Given the description of an element on the screen output the (x, y) to click on. 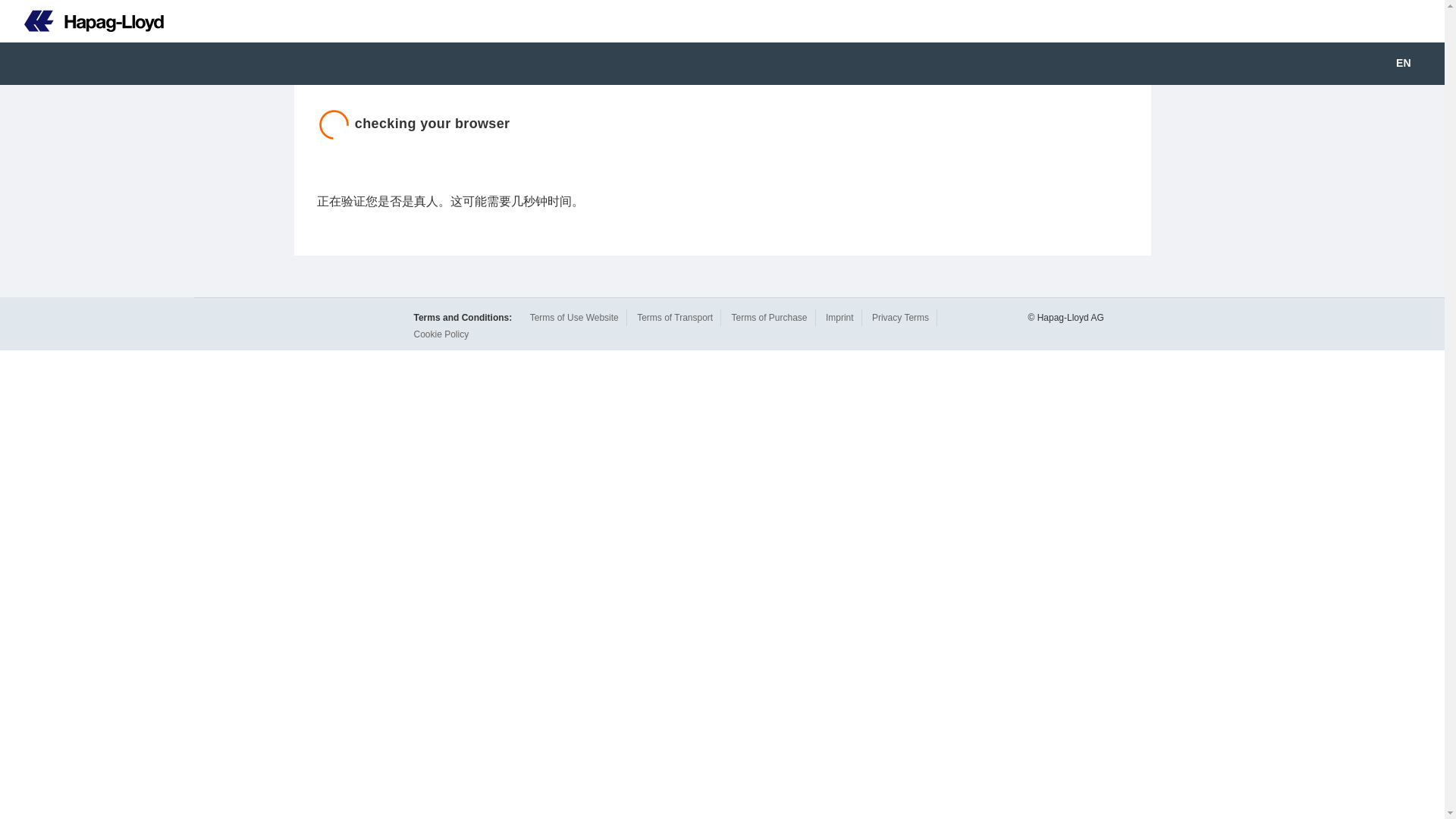
Terms of Purchase (768, 317)
Hapag-Lloyd Logo (93, 21)
Cookie Policy (440, 334)
EN (1414, 63)
Hapag-Lloyd Logo (81, 21)
Terms of Transport (675, 317)
Imprint (839, 317)
Privacy Terms (900, 317)
Terms of Use Website (573, 317)
